Given the description of an element on the screen output the (x, y) to click on. 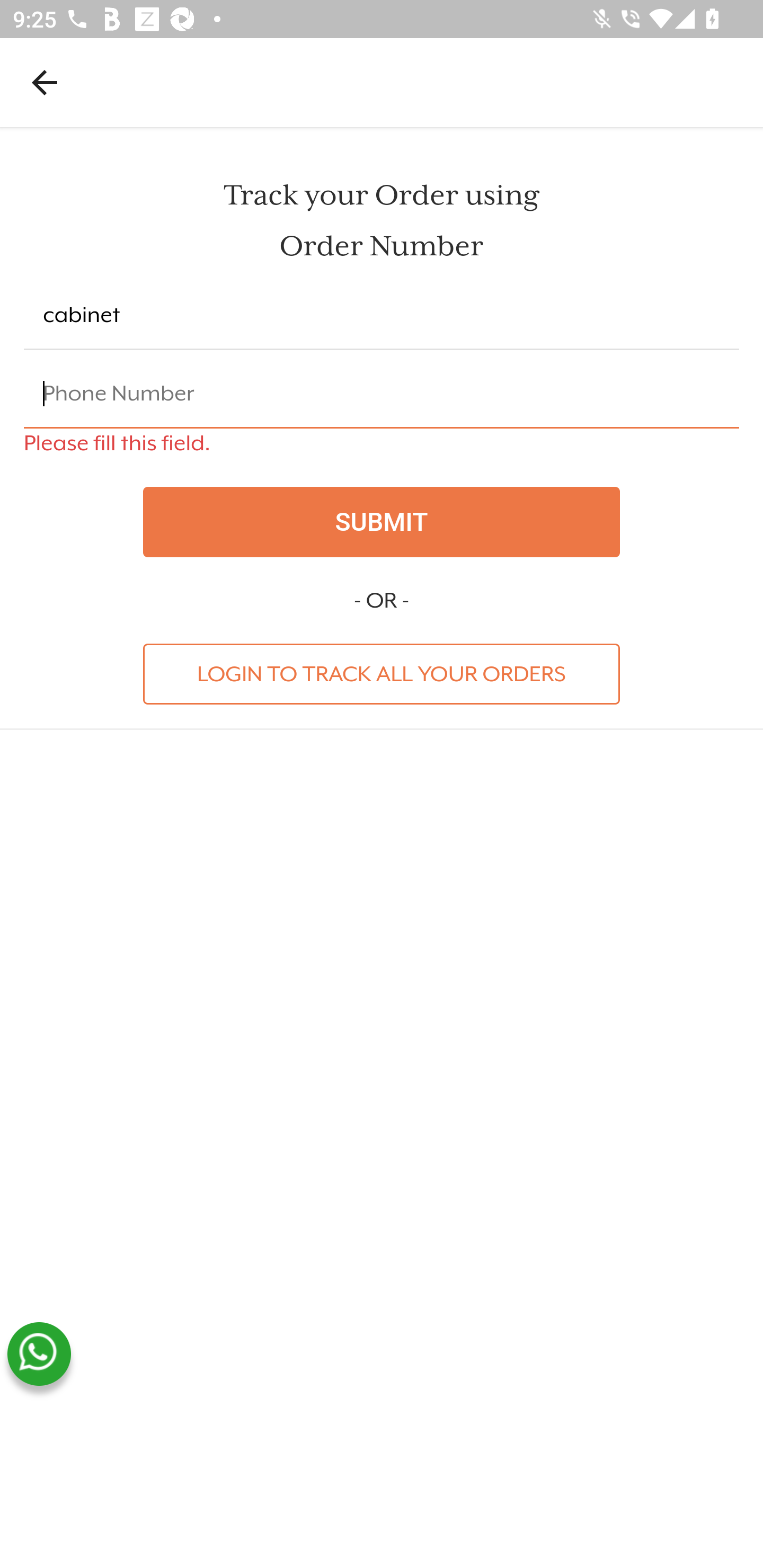
Navigate up (44, 82)
cabinet (381, 315)
SUBMIT (381, 522)
LOGIN TO TRACK ALL YOUR ORDERS (381, 673)
whatsapp (38, 1353)
